Given the description of an element on the screen output the (x, y) to click on. 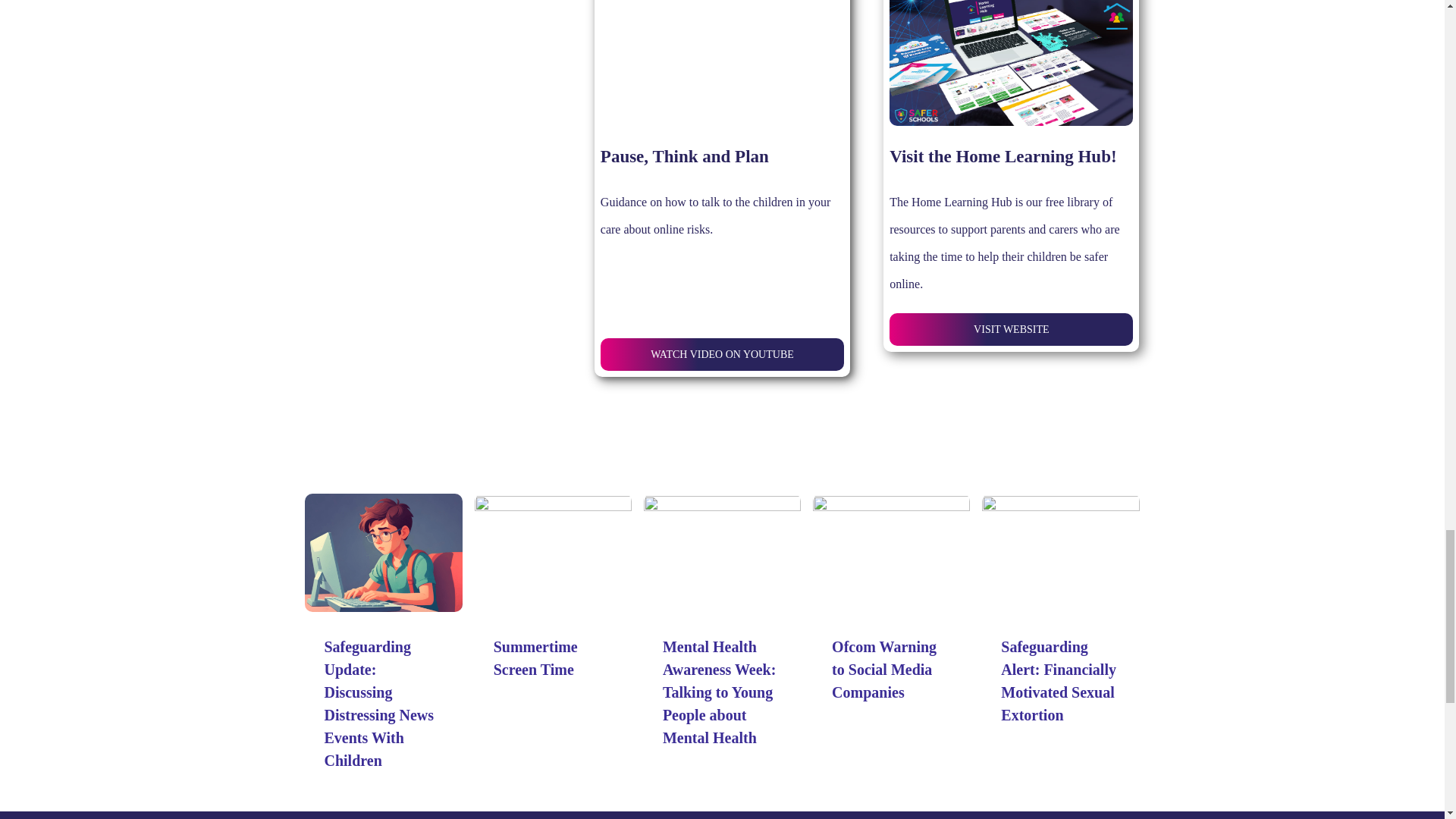
Ofcom Warning to Social Media Companies (883, 669)
VISIT WEBSITE (1010, 328)
Safeguarding Alert: Financially Motivated Sexual Extortion (1058, 680)
WATCH VIDEO ON YOUTUBE (721, 354)
Summertime Screen Time (535, 658)
